Given the description of an element on the screen output the (x, y) to click on. 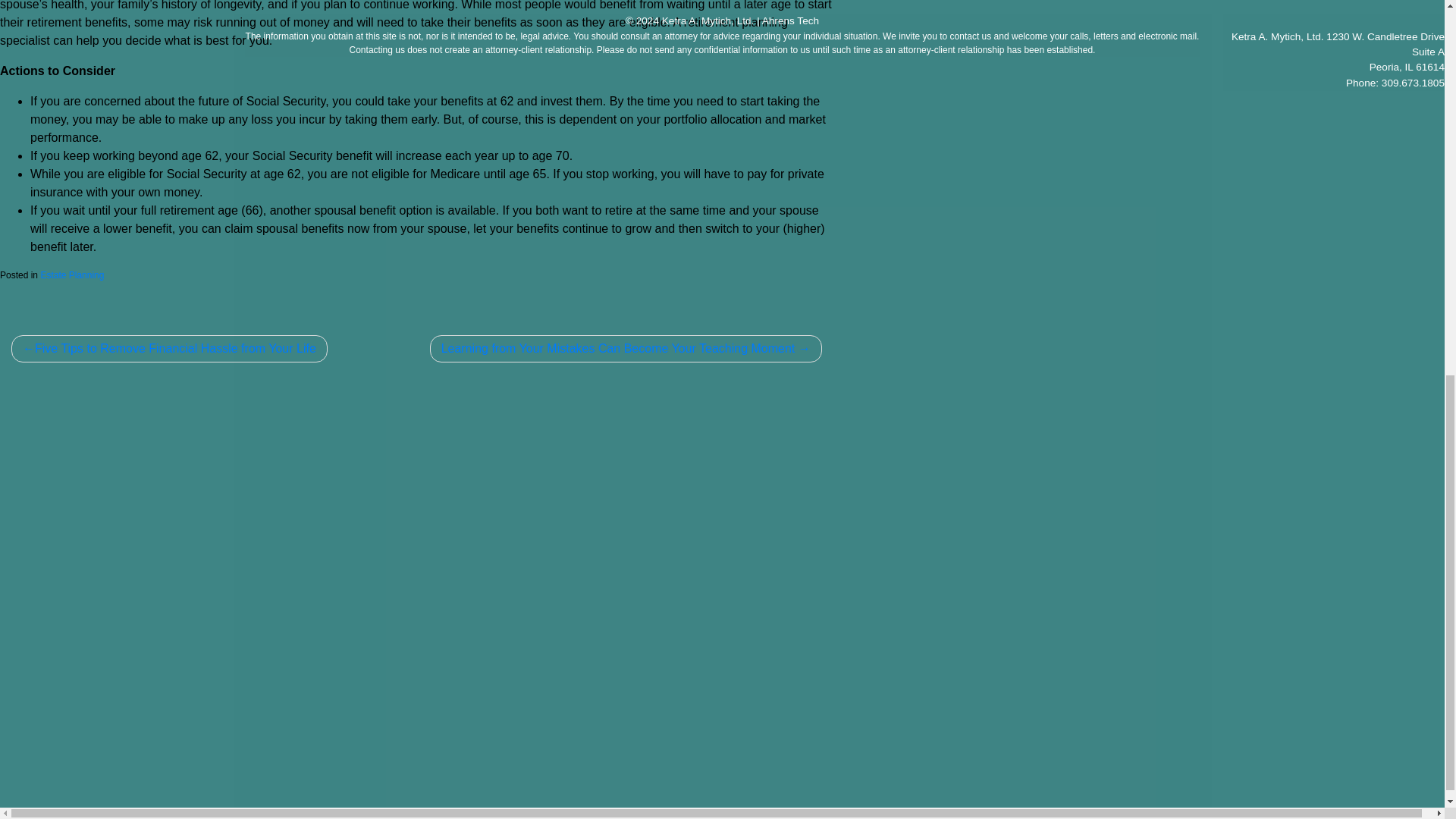
Learning from Your Mistakes Can Become Your Teaching Moment (625, 348)
Five Tips to Remove Financial Hassle from Your Life (169, 348)
Submit (812, 722)
Ketra A. Mytich, Ltd. (708, 20)
Estate Planning (71, 275)
